Given the description of an element on the screen output the (x, y) to click on. 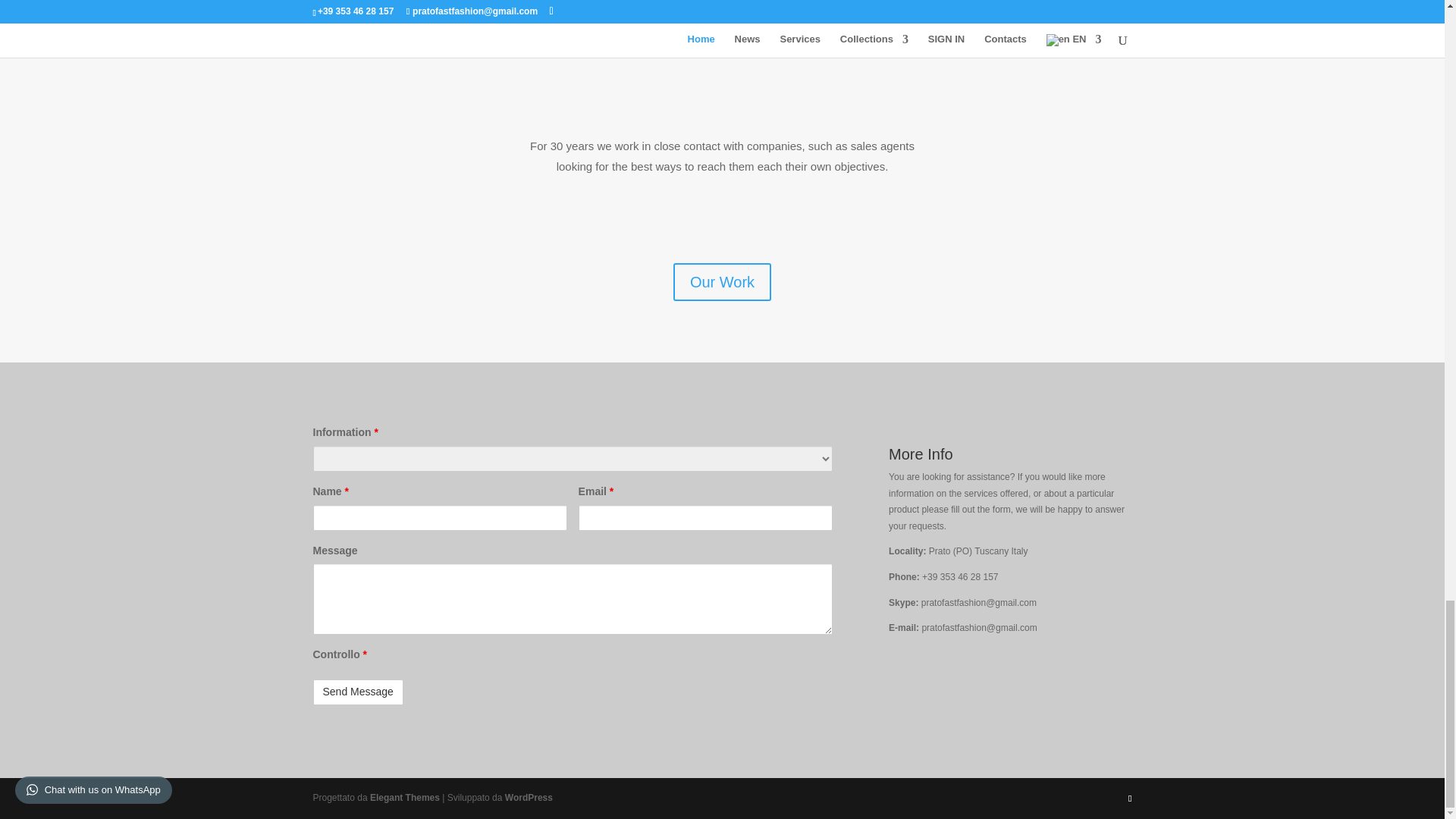
Premium WordPress Themes (404, 797)
Send Message (358, 692)
